Given the description of an element on the screen output the (x, y) to click on. 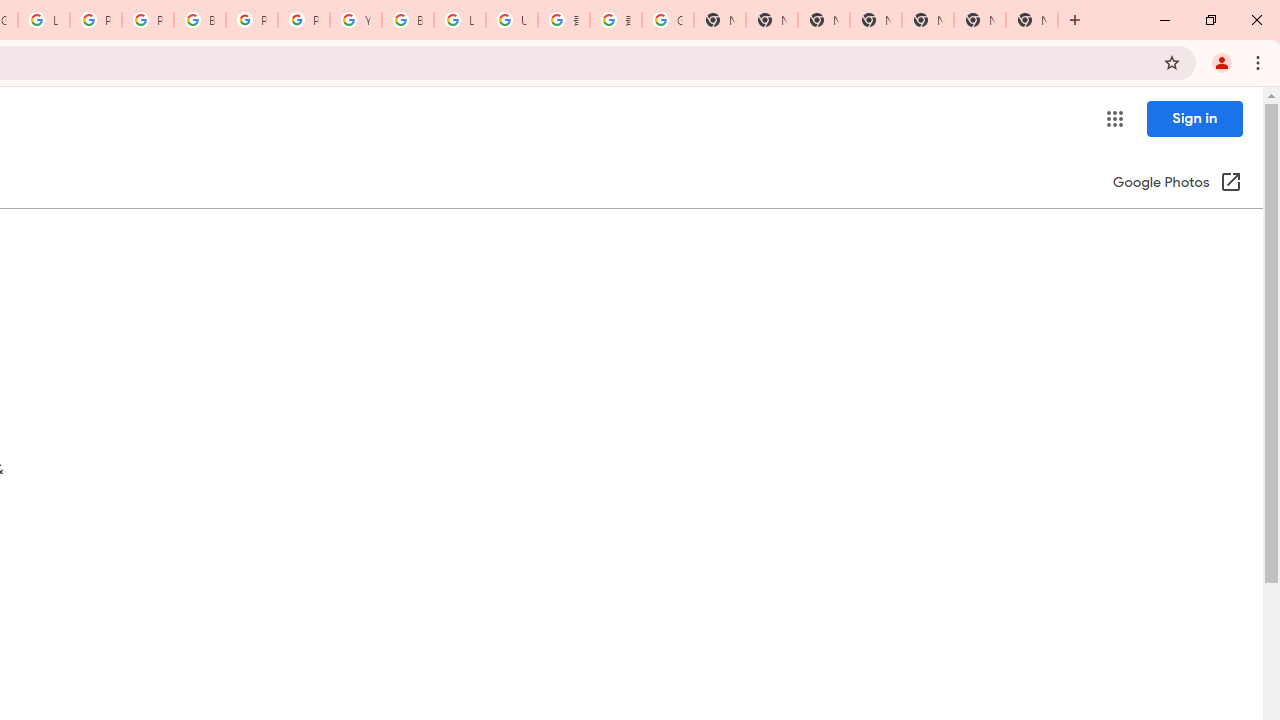
Google Photos (Open in a new window) (1177, 183)
Privacy Help Center - Policies Help (95, 20)
Privacy Help Center - Policies Help (147, 20)
YouTube (355, 20)
Browse Chrome as a guest - Computer - Google Chrome Help (407, 20)
